Given the description of an element on the screen output the (x, y) to click on. 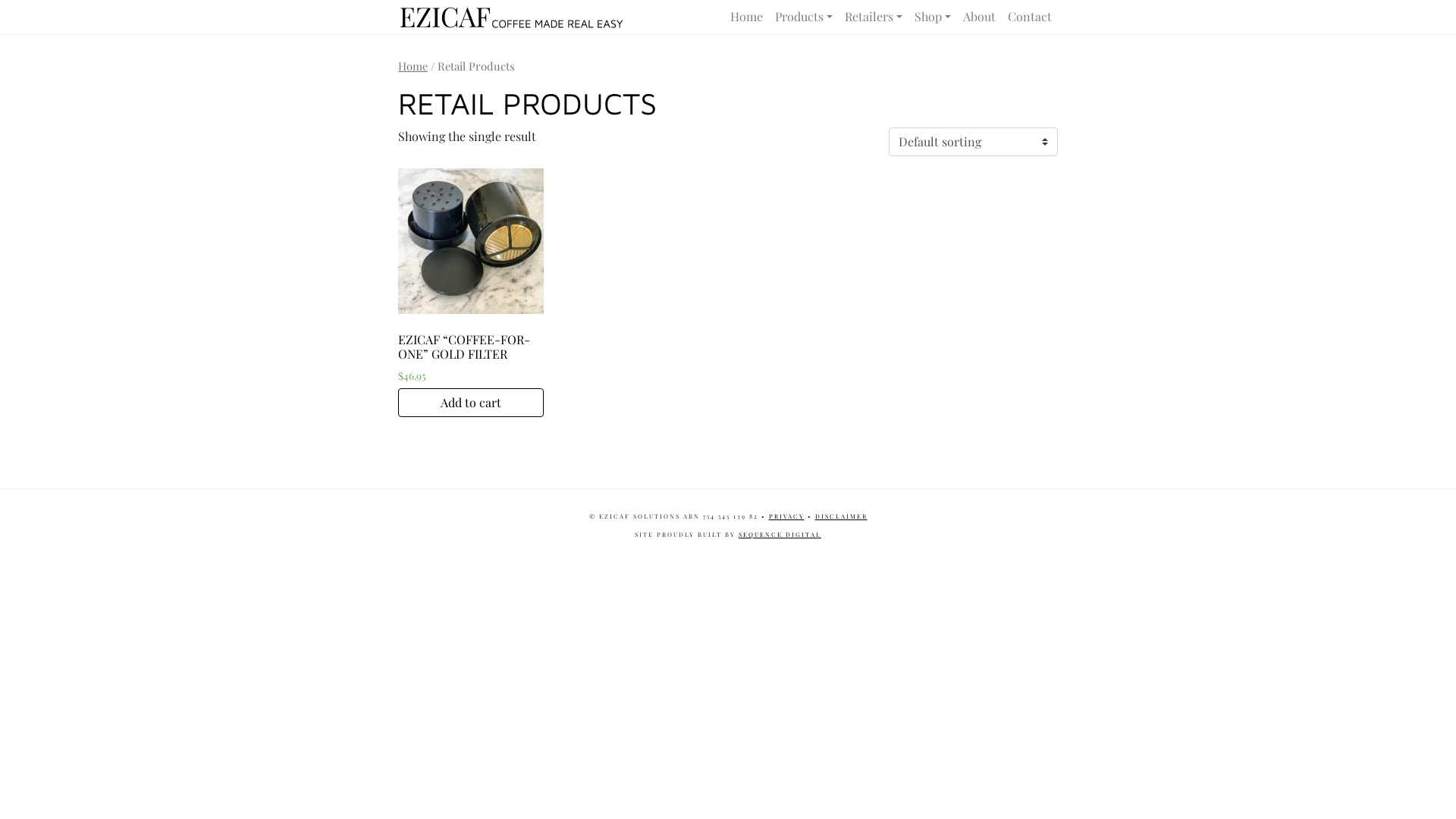
Home Element type: text (746, 16)
Home Element type: text (412, 65)
Products Element type: text (803, 16)
Retailers Element type: text (873, 16)
PRIVACY Element type: text (786, 515)
Shop Element type: text (932, 16)
Contact Element type: text (1029, 16)
Add to cart Element type: text (470, 402)
About Element type: text (979, 16)
DISCLAIMER Element type: text (840, 515)
SEQUENCE DIGITAL Element type: text (779, 534)
